Given the description of an element on the screen output the (x, y) to click on. 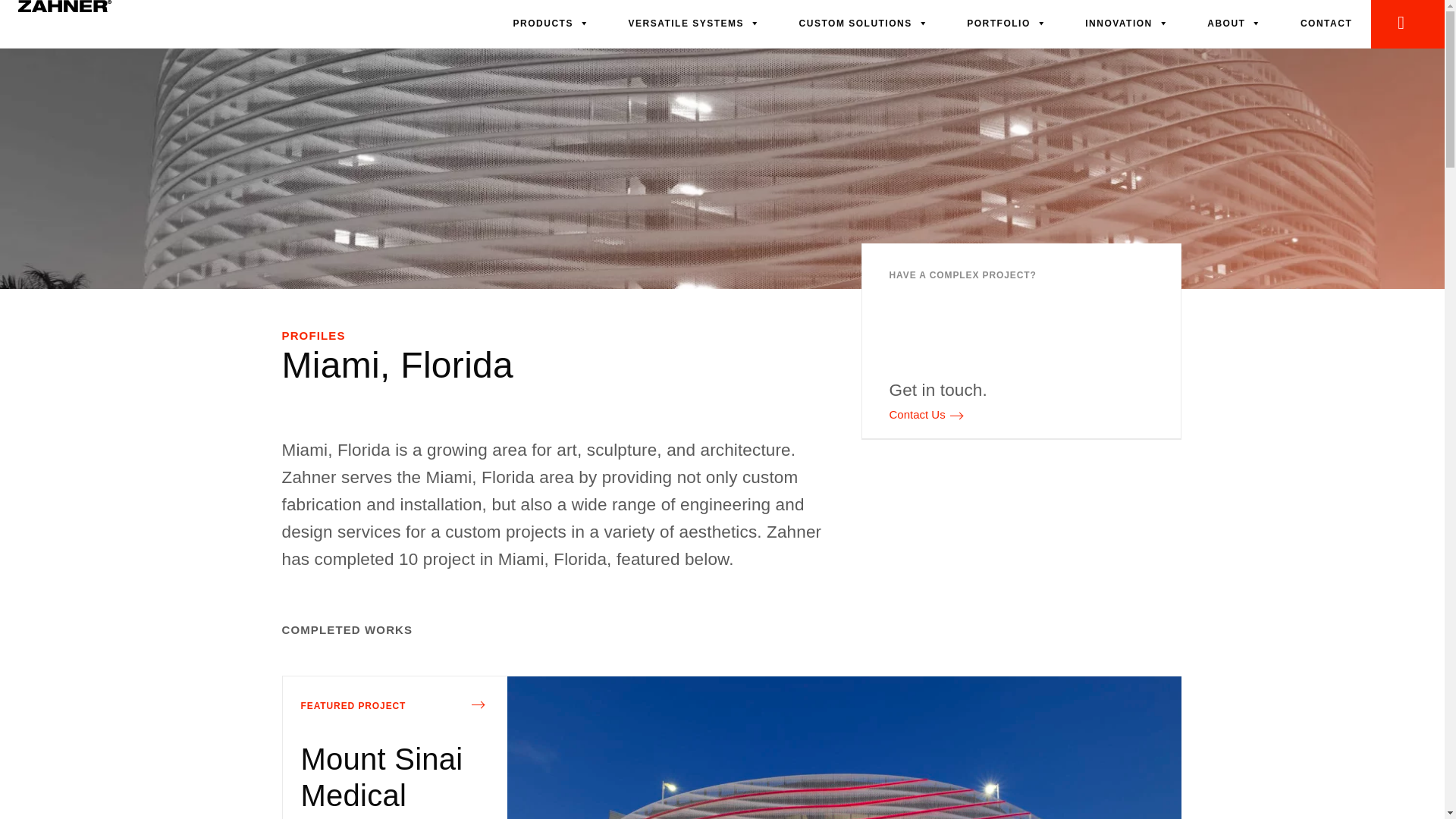
INNOVATION (1126, 23)
CUSTOM SOLUTIONS (864, 23)
PRODUCTS (552, 23)
VERSATILE SYSTEMS (693, 23)
PORTFOLIO (1006, 23)
